Given the description of an element on the screen output the (x, y) to click on. 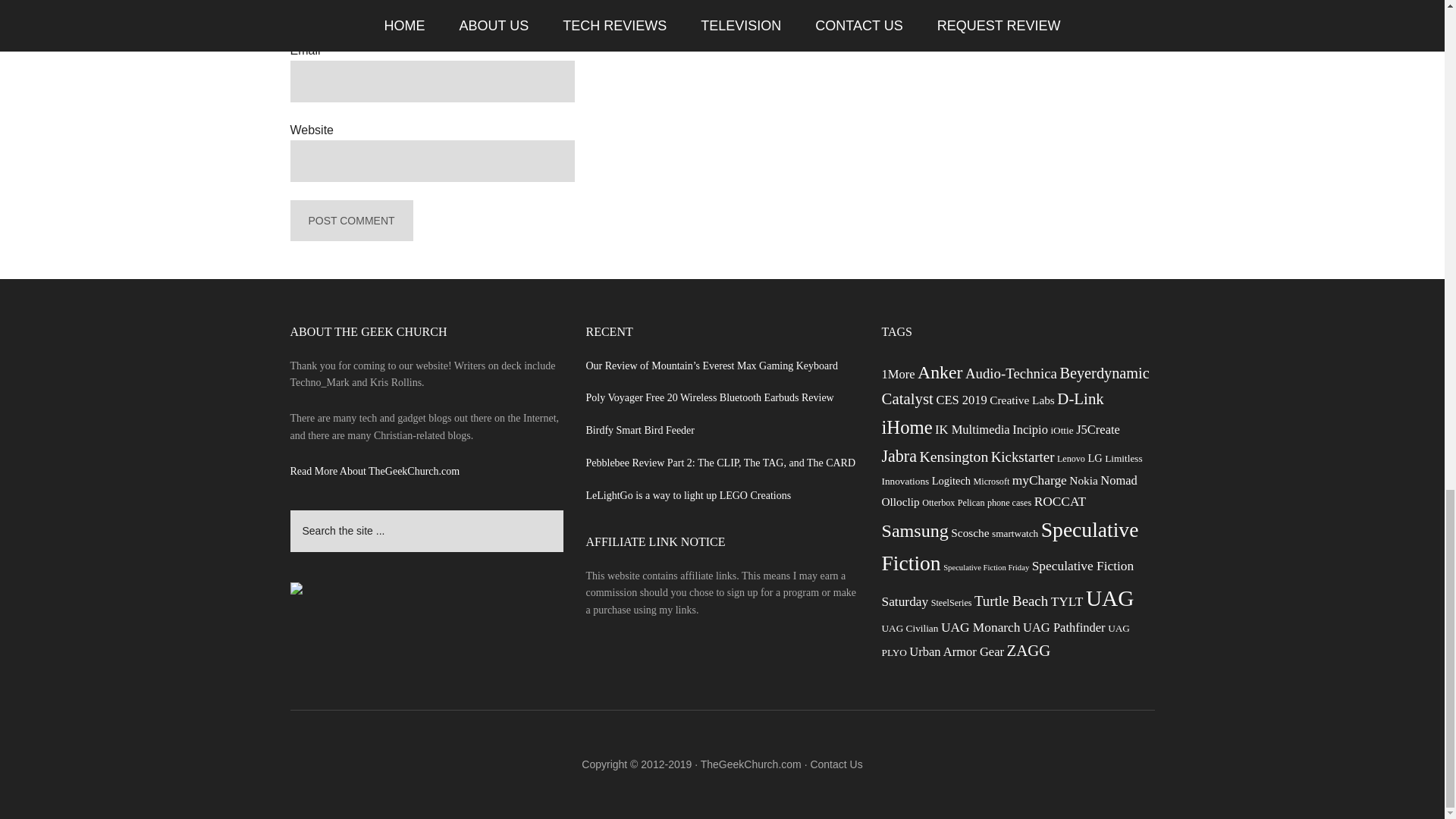
Post Comment (350, 220)
Post Comment (350, 220)
